Given the description of an element on the screen output the (x, y) to click on. 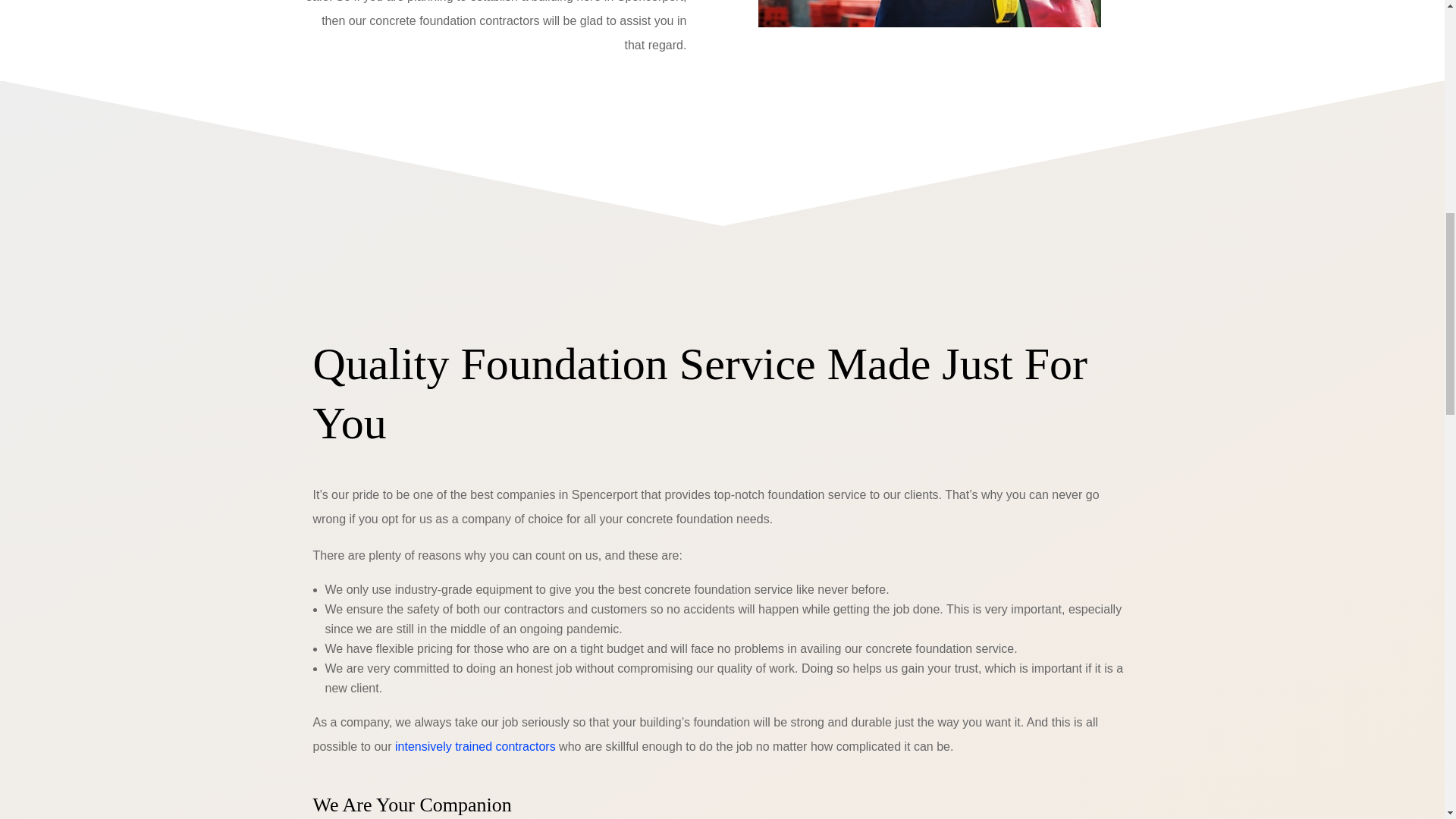
5e9d9462117362 (930, 13)
